Given the description of an element on the screen output the (x, y) to click on. 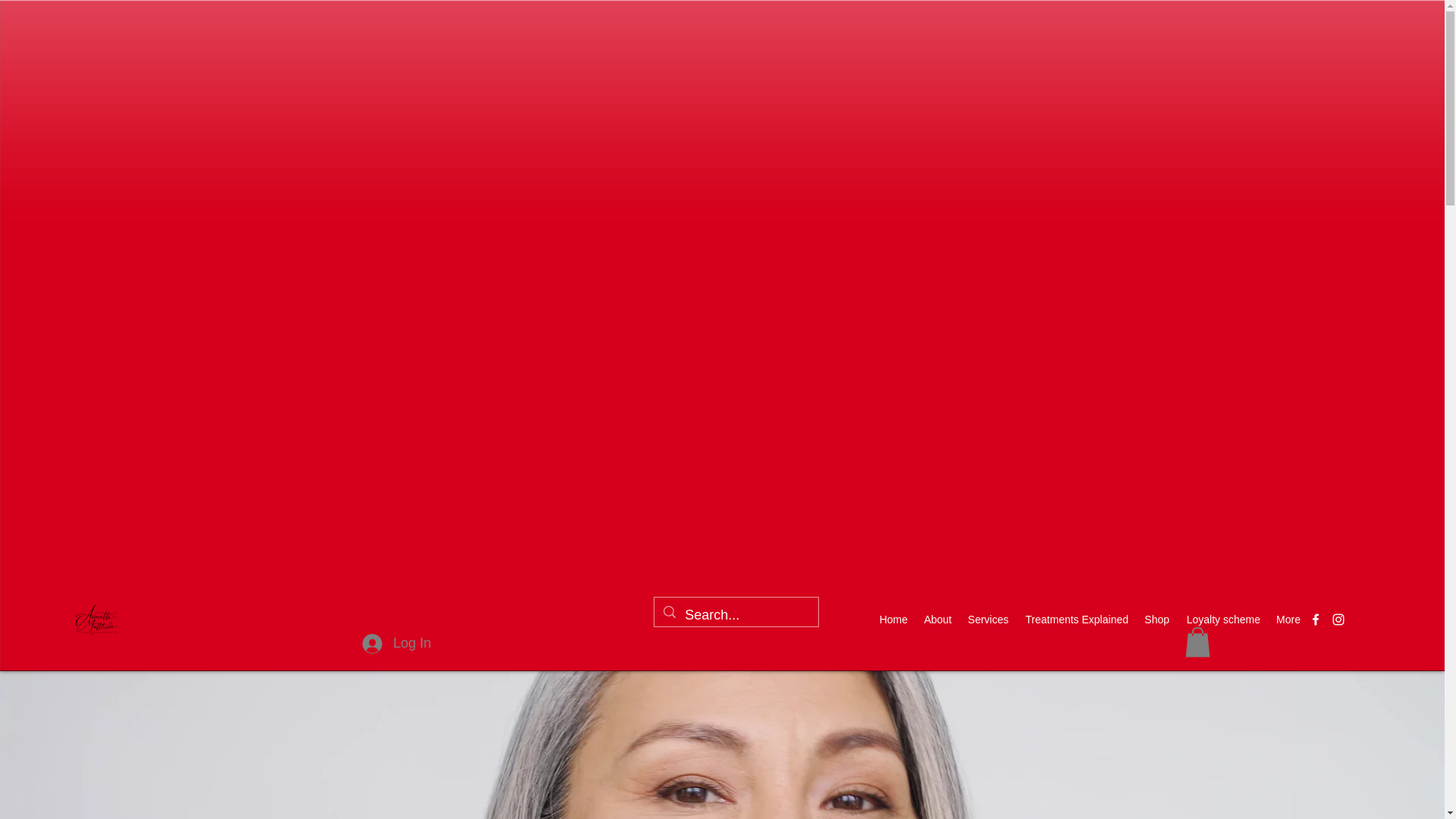
Loyalty scheme (1222, 619)
Home (892, 619)
Services (987, 619)
Shop (1155, 619)
Treatments Explained (1075, 619)
Log In (396, 643)
About (937, 619)
